Given the description of an element on the screen output the (x, y) to click on. 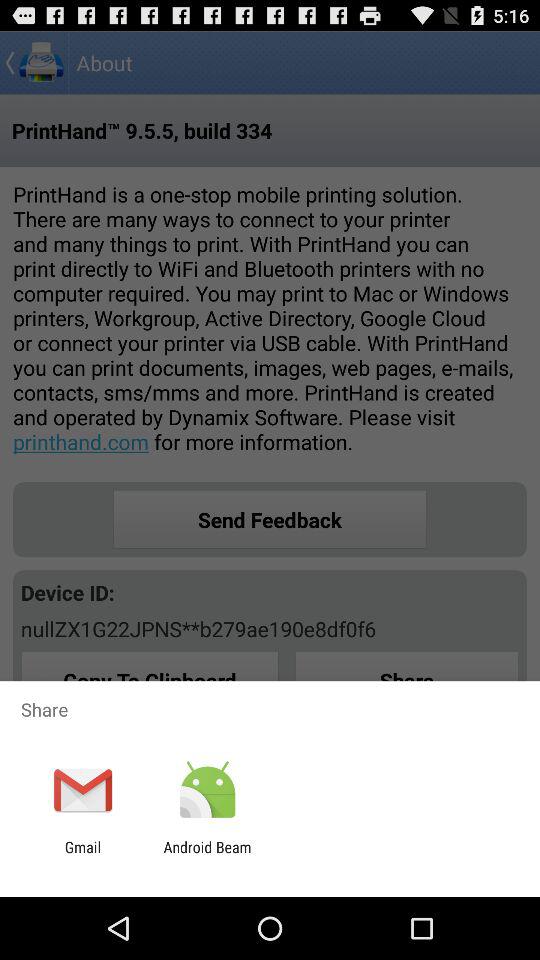
flip until the android beam item (207, 856)
